Given the description of an element on the screen output the (x, y) to click on. 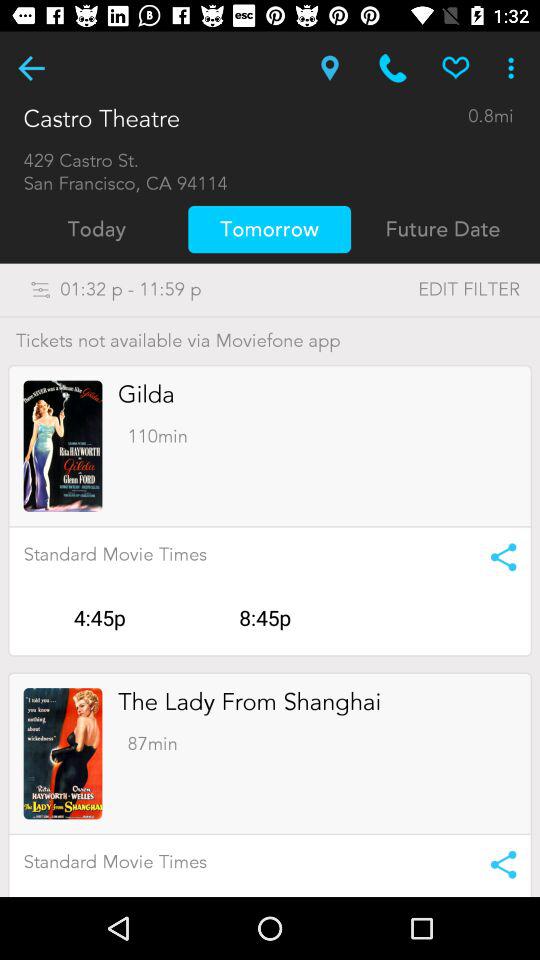
open movie (62, 753)
